Given the description of an element on the screen output the (x, y) to click on. 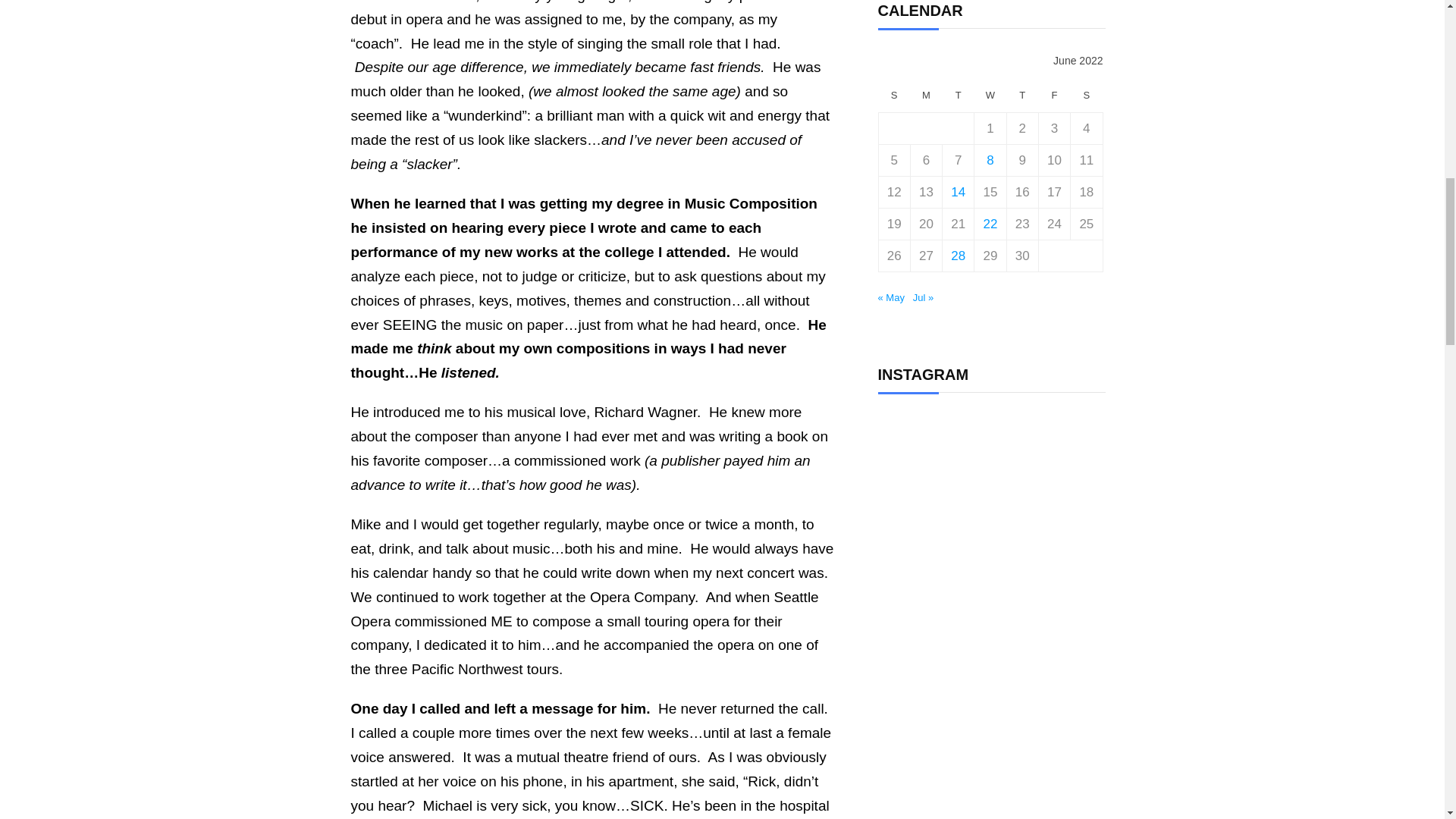
Saturday (1086, 97)
Thursday (1022, 97)
Friday (1054, 97)
Wednesday (990, 97)
Tuesday (958, 97)
Sunday (893, 97)
Monday (926, 97)
